Given the description of an element on the screen output the (x, y) to click on. 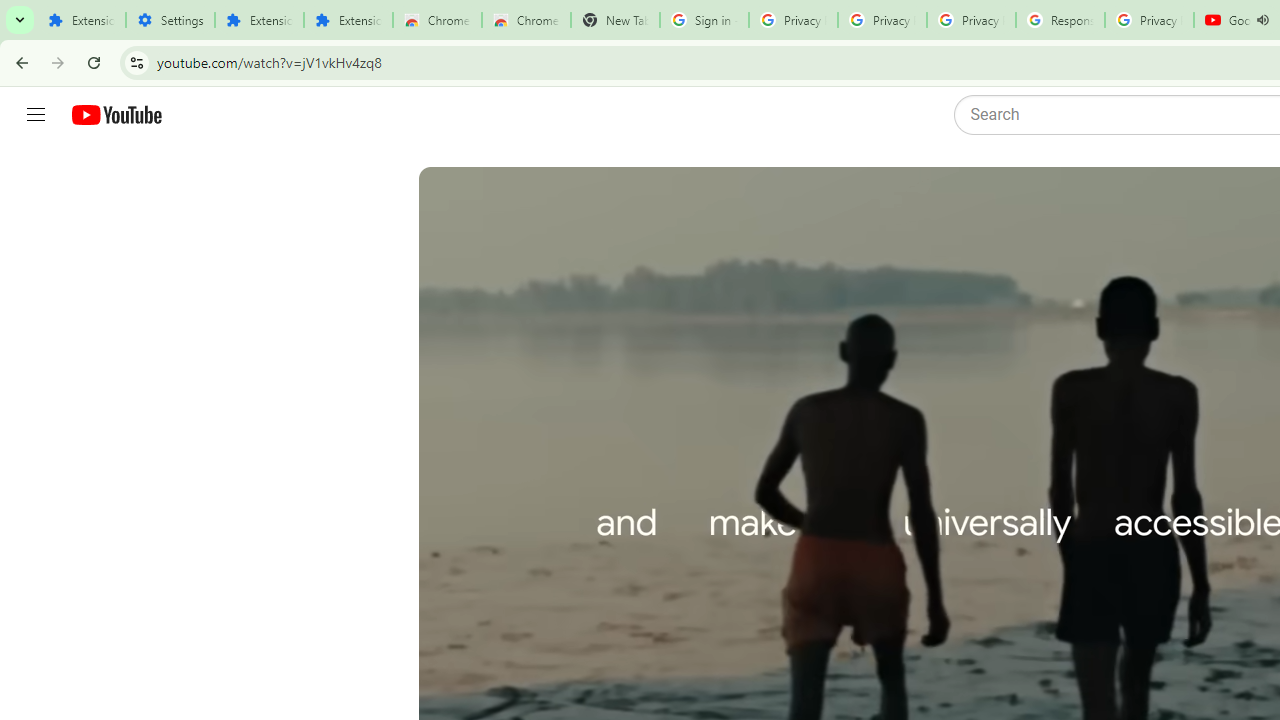
New Tab (615, 20)
Reload (93, 62)
Search tabs (20, 20)
Extensions (347, 20)
Extensions (81, 20)
Settings (170, 20)
